Given the description of an element on the screen output the (x, y) to click on. 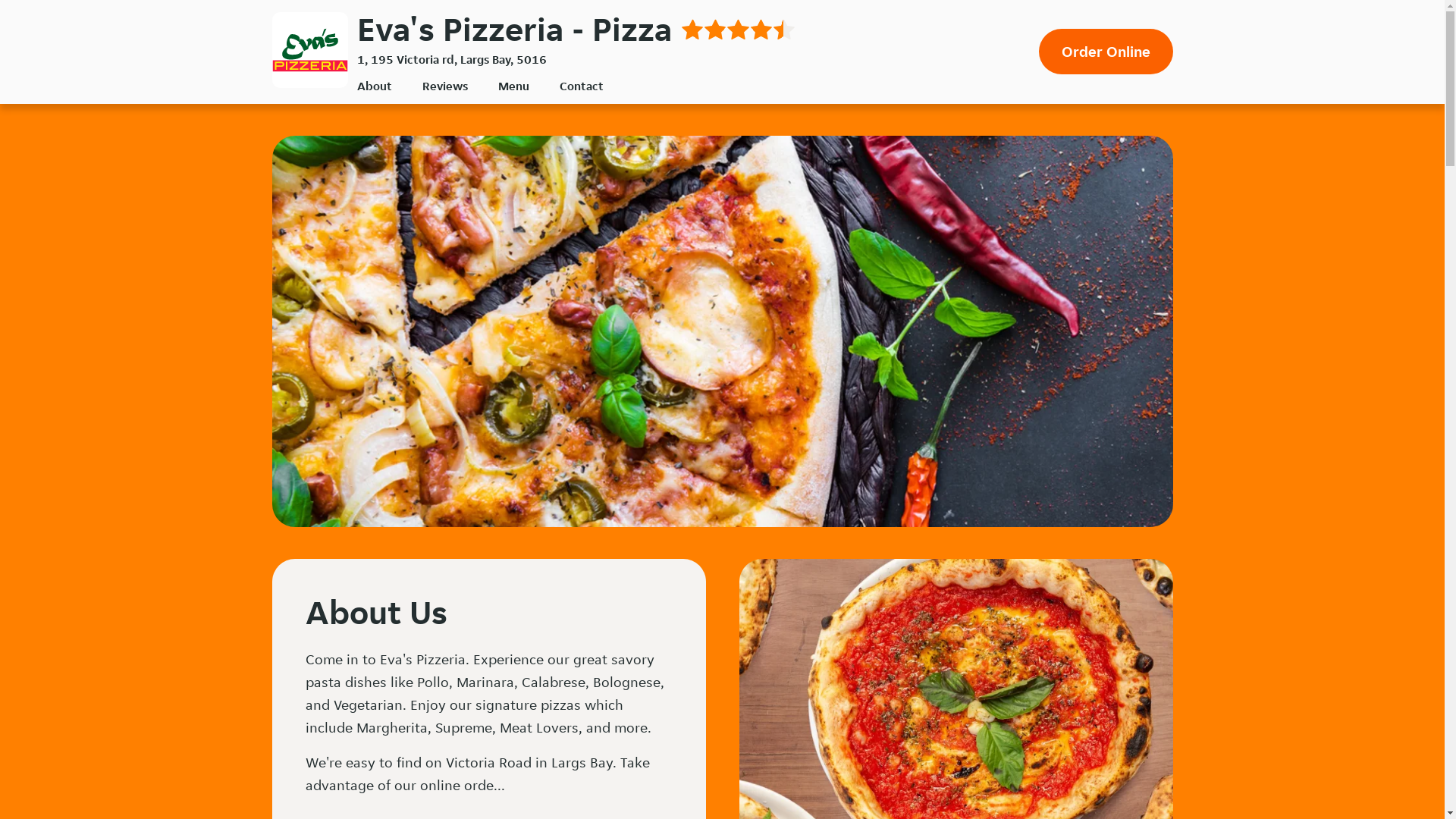
Eva's Pizzeria Element type: hover (309, 49)
Reviews Element type: text (444, 86)
About Element type: text (373, 86)
Order Online Element type: text (1105, 51)
Menu Element type: text (512, 86)
Contact Element type: text (581, 86)
